Given the description of an element on the screen output the (x, y) to click on. 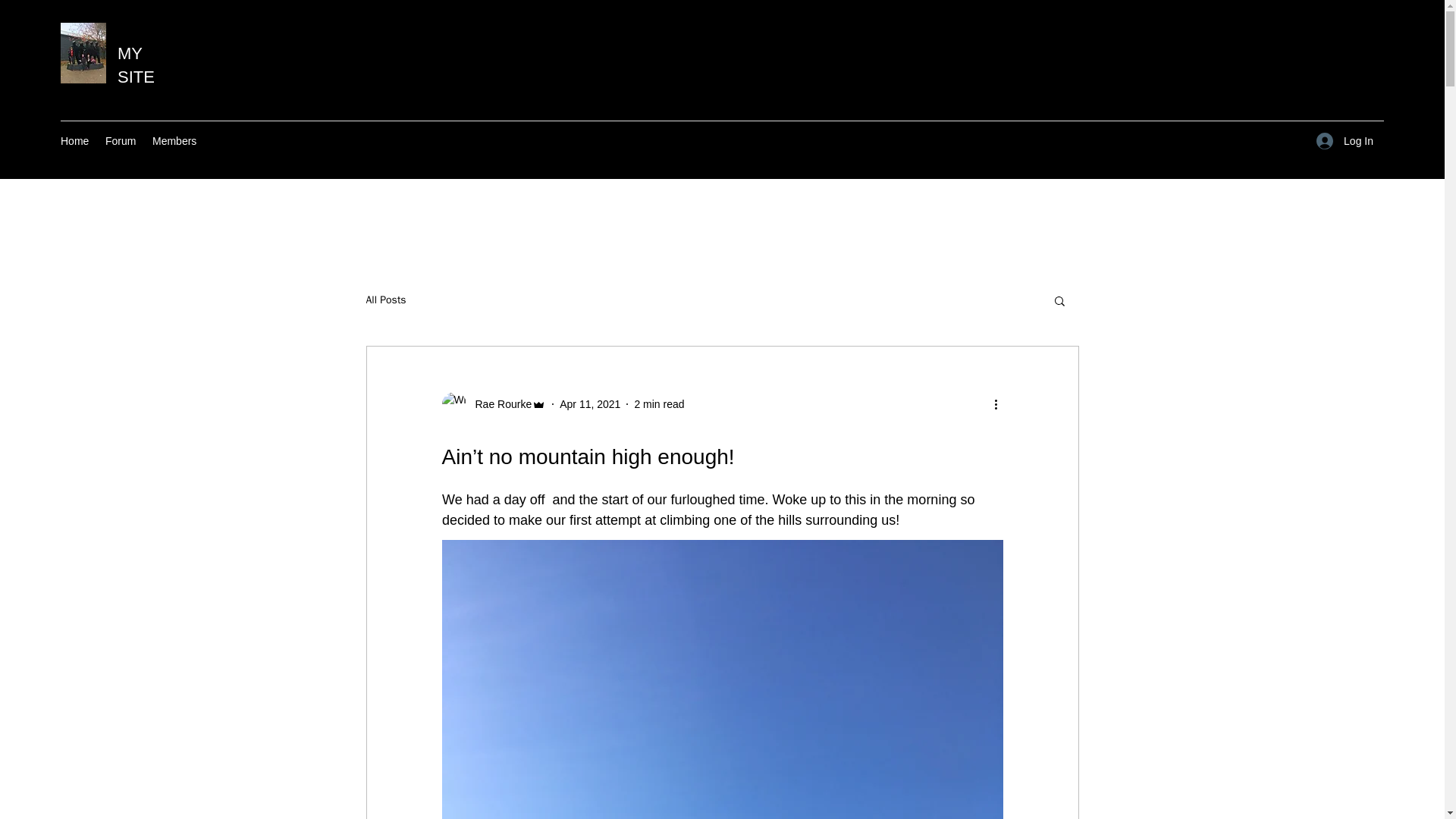
Apr 11, 2021 (589, 404)
Members (175, 140)
Home (74, 140)
Rae Rourke (493, 404)
Forum (120, 140)
All Posts (385, 300)
2 min read (658, 404)
Log In (1345, 141)
Rae Rourke (498, 404)
